Given the description of an element on the screen output the (x, y) to click on. 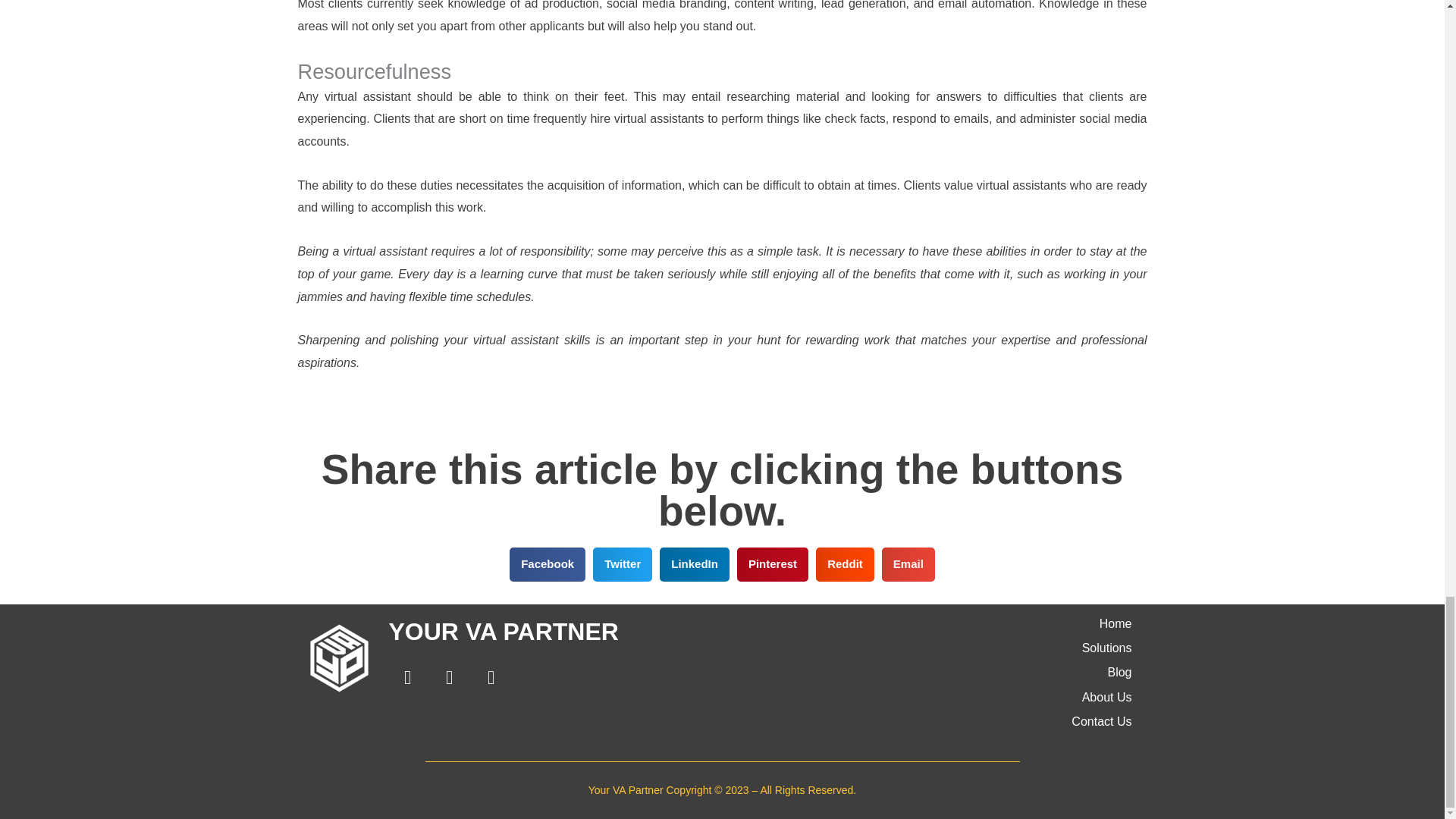
Solutions (938, 648)
About Us (938, 697)
Linkedin (448, 677)
Blog (938, 672)
Instagram (490, 677)
Home (938, 623)
Facebook (407, 677)
Contact Us (938, 721)
